Given the description of an element on the screen output the (x, y) to click on. 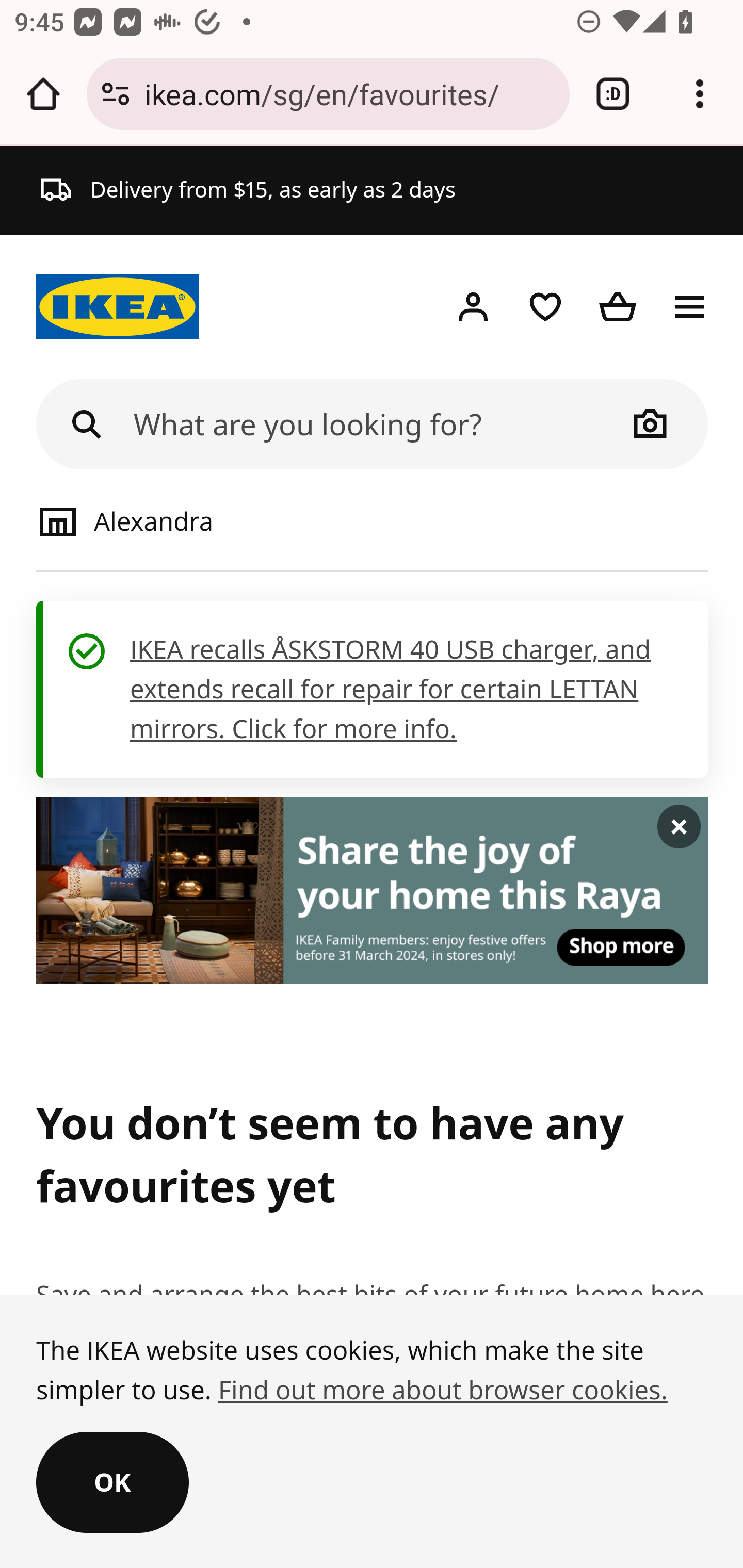
Open the home page (43, 93)
Connection is secure (115, 93)
Switch or close tabs (612, 93)
Customize and control Google Chrome (699, 93)
ikea.com/sg/en/favourites/ (349, 92)
Delivery from $15, as early as 2 days (247, 189)
profile (472, 307)
Shopping list (544, 307)
Shopping cart (618, 307)
Menu (690, 307)
IKEA logotype, go to start page (117, 307)
Search IKEA products using a photo (650, 423)
Alexandra - Select store (204, 520)
Find out more about browser cookies. (441, 1390)
OK (112, 1483)
